Given the description of an element on the screen output the (x, y) to click on. 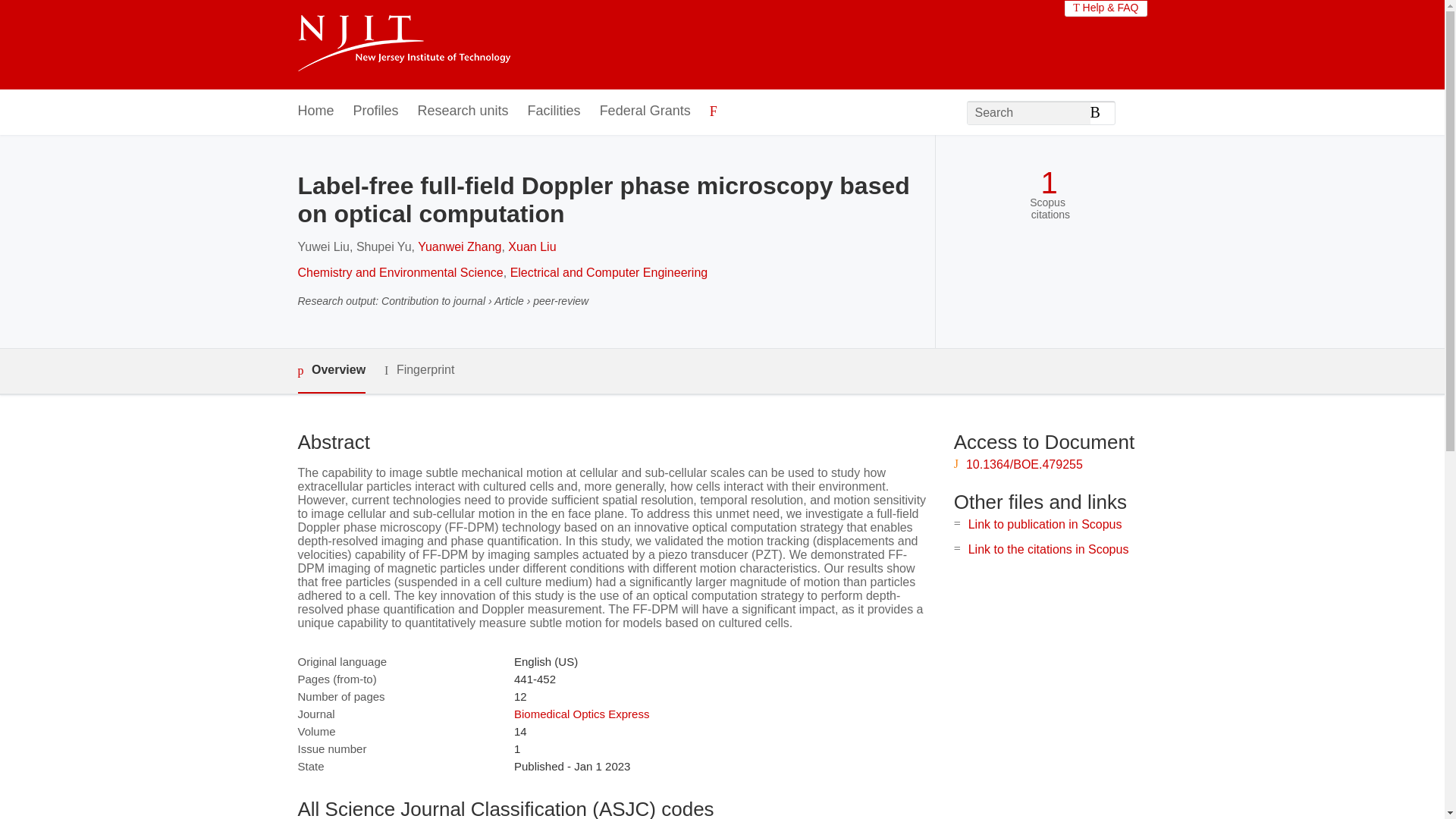
New Jersey Institute of Technology Home (403, 44)
Yuanwei Zhang (458, 246)
Profiles (375, 111)
Electrical and Computer Engineering (609, 272)
Federal Grants (644, 111)
Link to the citations in Scopus (1048, 549)
Research units (462, 111)
Xuan Liu (532, 246)
Link to publication in Scopus (1045, 523)
